Given the description of an element on the screen output the (x, y) to click on. 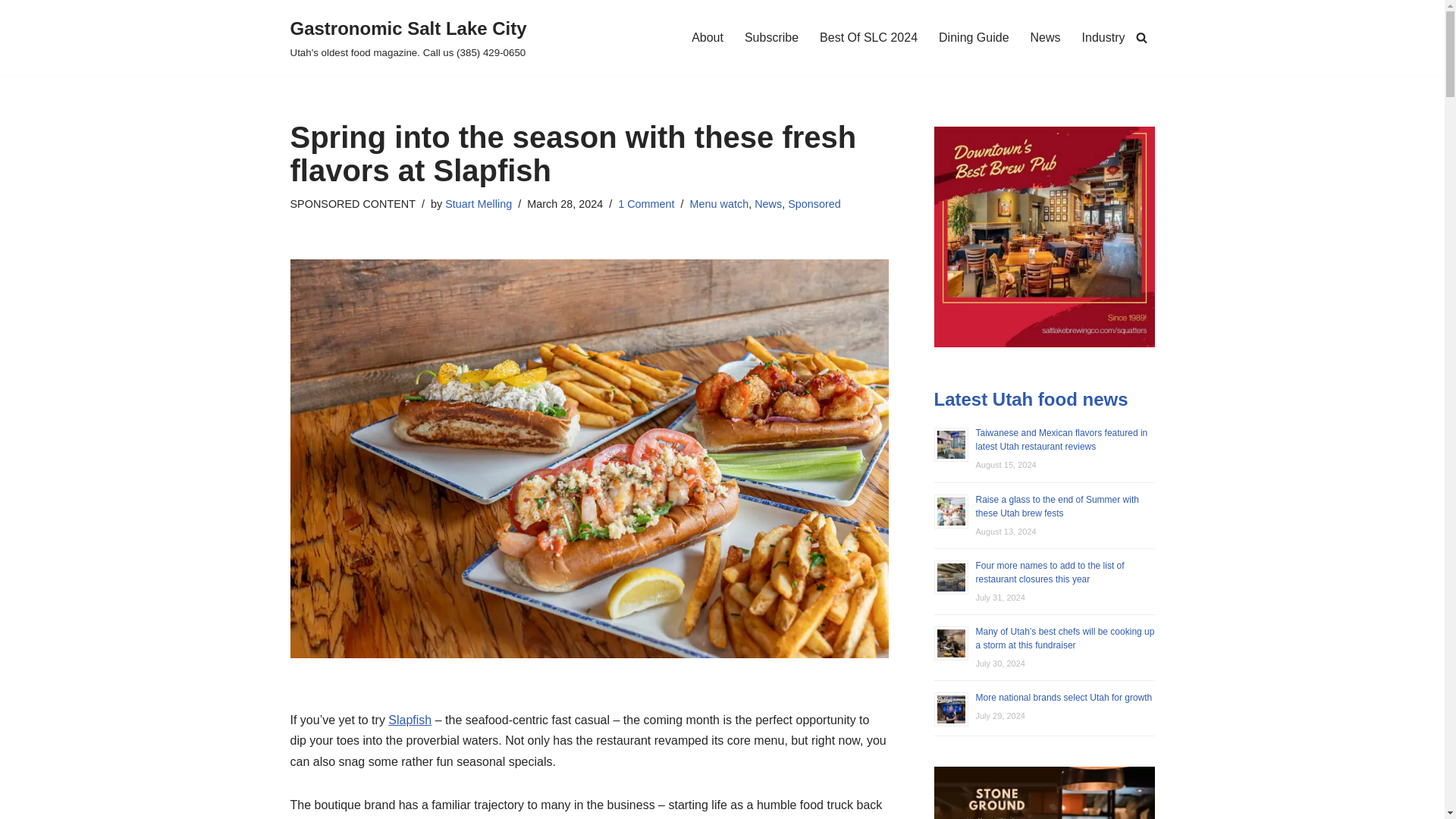
Skip to content (11, 31)
Sponsored (814, 203)
Industry (1103, 37)
Best Of SLC 2024 (868, 37)
Subscribe (770, 37)
1 Comment (645, 203)
Stuart Melling (478, 203)
Dining Guide (974, 37)
About (707, 37)
Slapfish (409, 719)
